Given the description of an element on the screen output the (x, y) to click on. 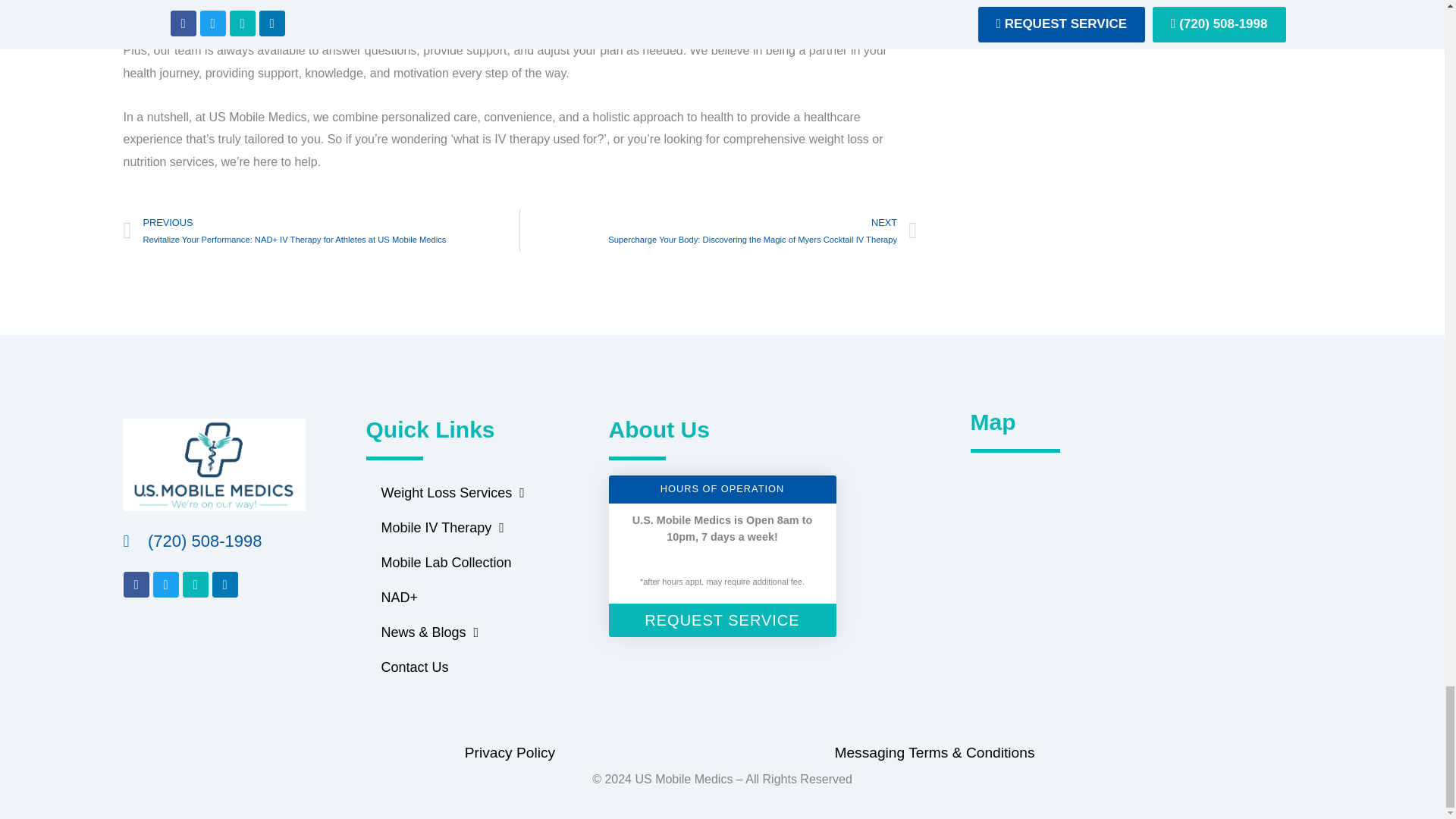
us mobile medics  (1150, 550)
